Given the description of an element on the screen output the (x, y) to click on. 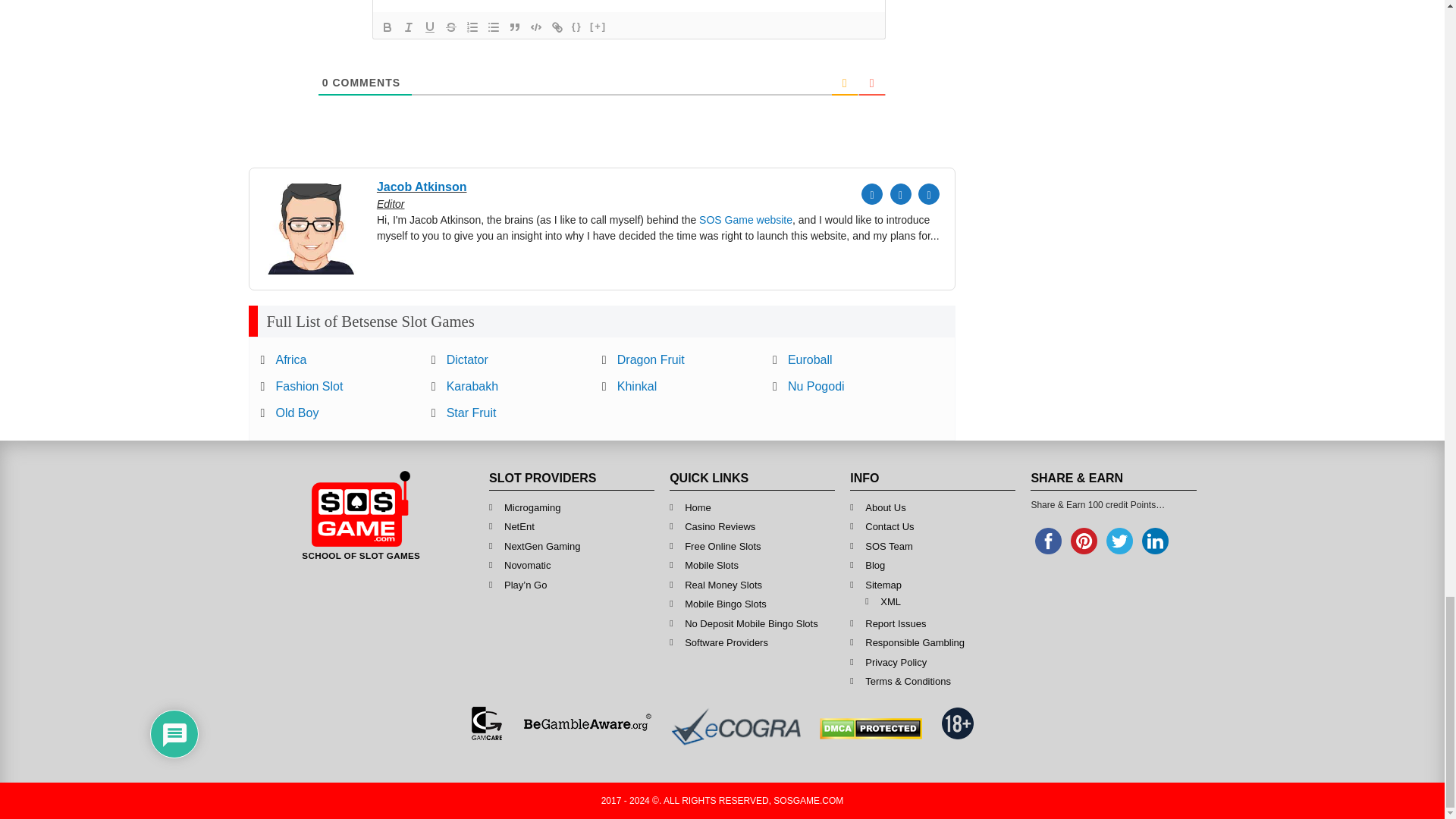
Italic (408, 27)
Underline (430, 27)
Bold (387, 27)
